Given the description of an element on the screen output the (x, y) to click on. 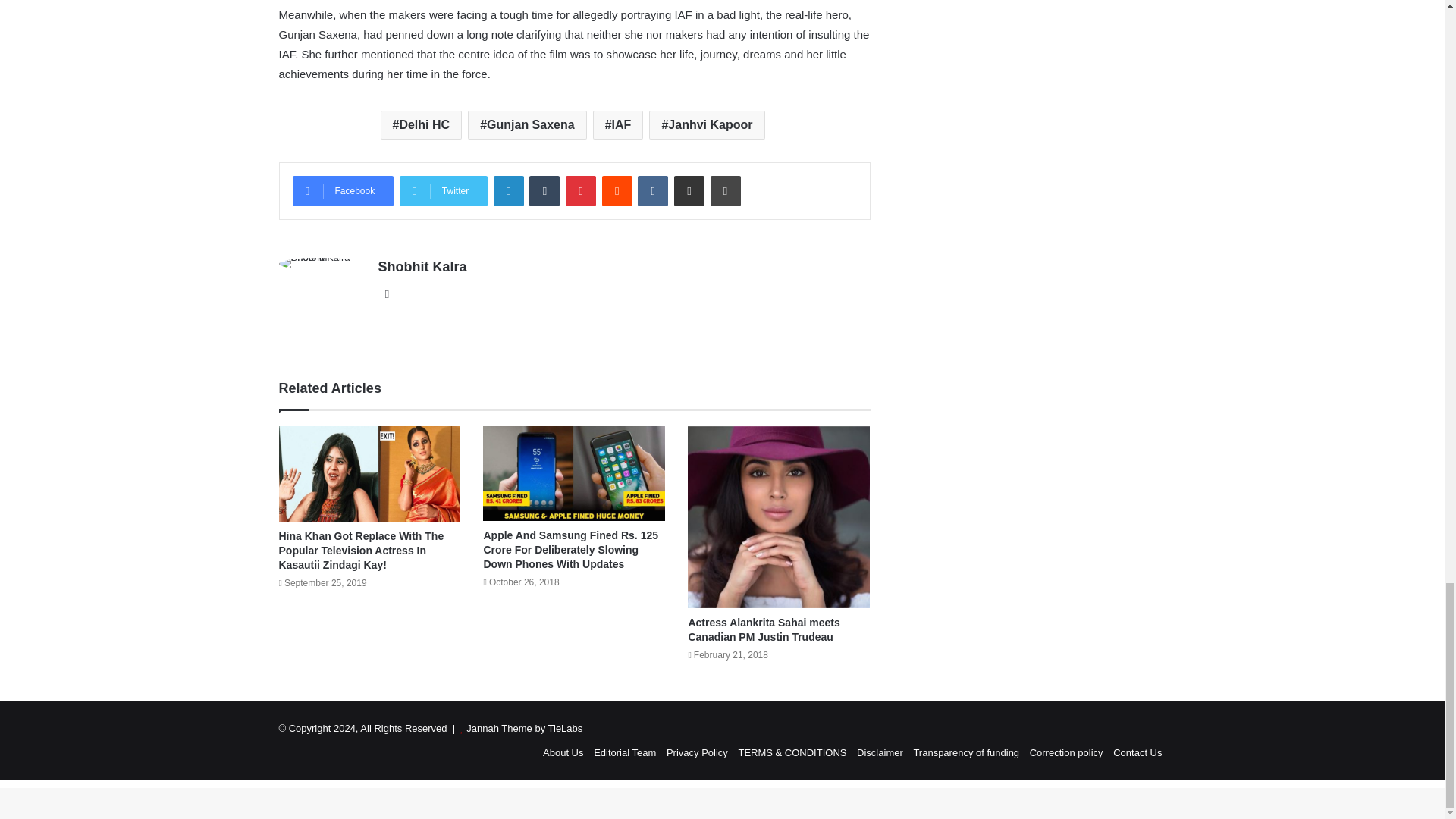
VKontakte (652, 191)
Gunjan Saxena (526, 124)
Print (725, 191)
Pinterest (580, 191)
Twitter (442, 191)
Shobhit Kalra (421, 266)
LinkedIn (508, 191)
Tumblr (544, 191)
IAF (617, 124)
Janhvi Kapoor (706, 124)
